Given the description of an element on the screen output the (x, y) to click on. 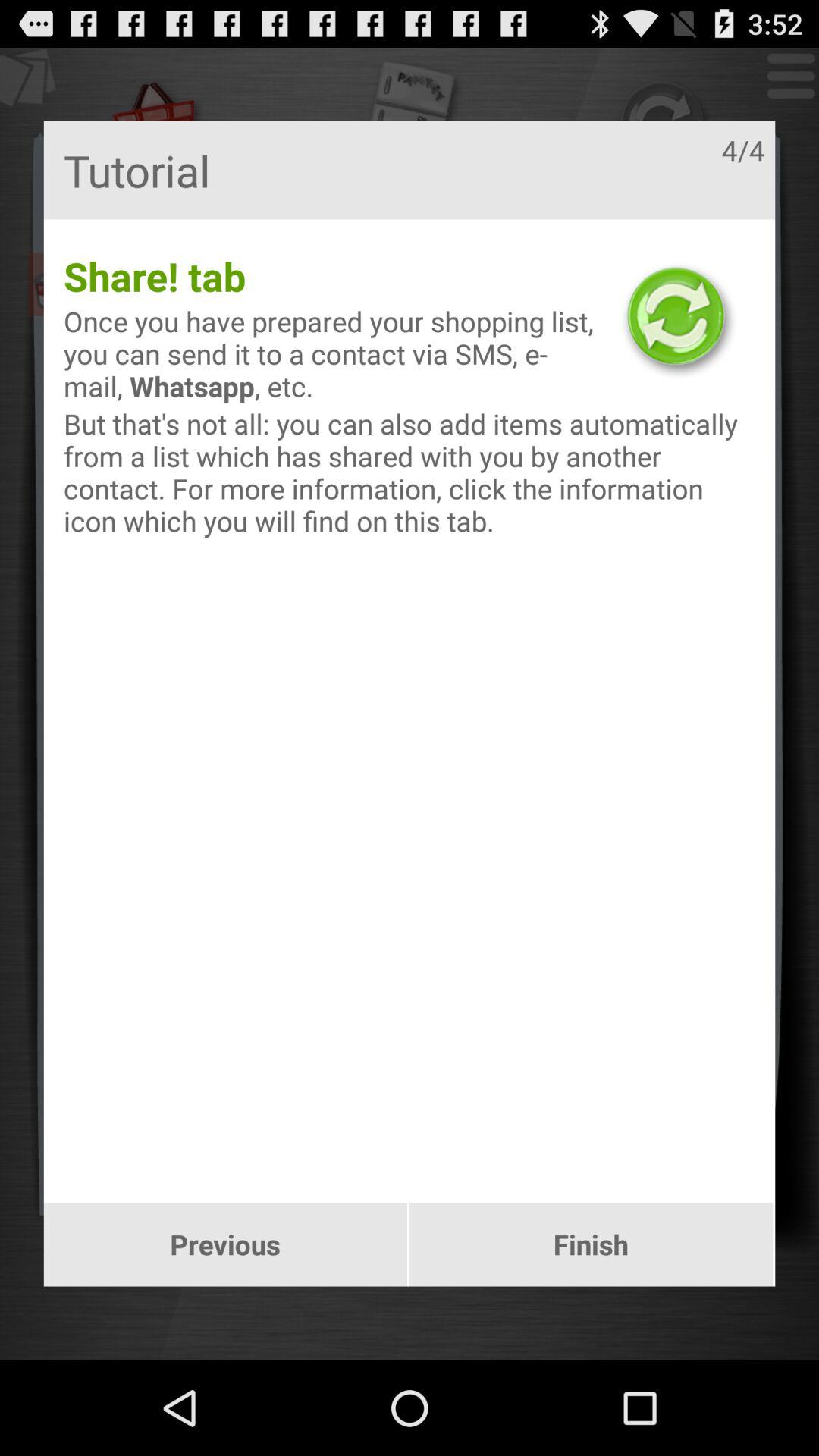
press item below but that s icon (225, 1244)
